Given the description of an element on the screen output the (x, y) to click on. 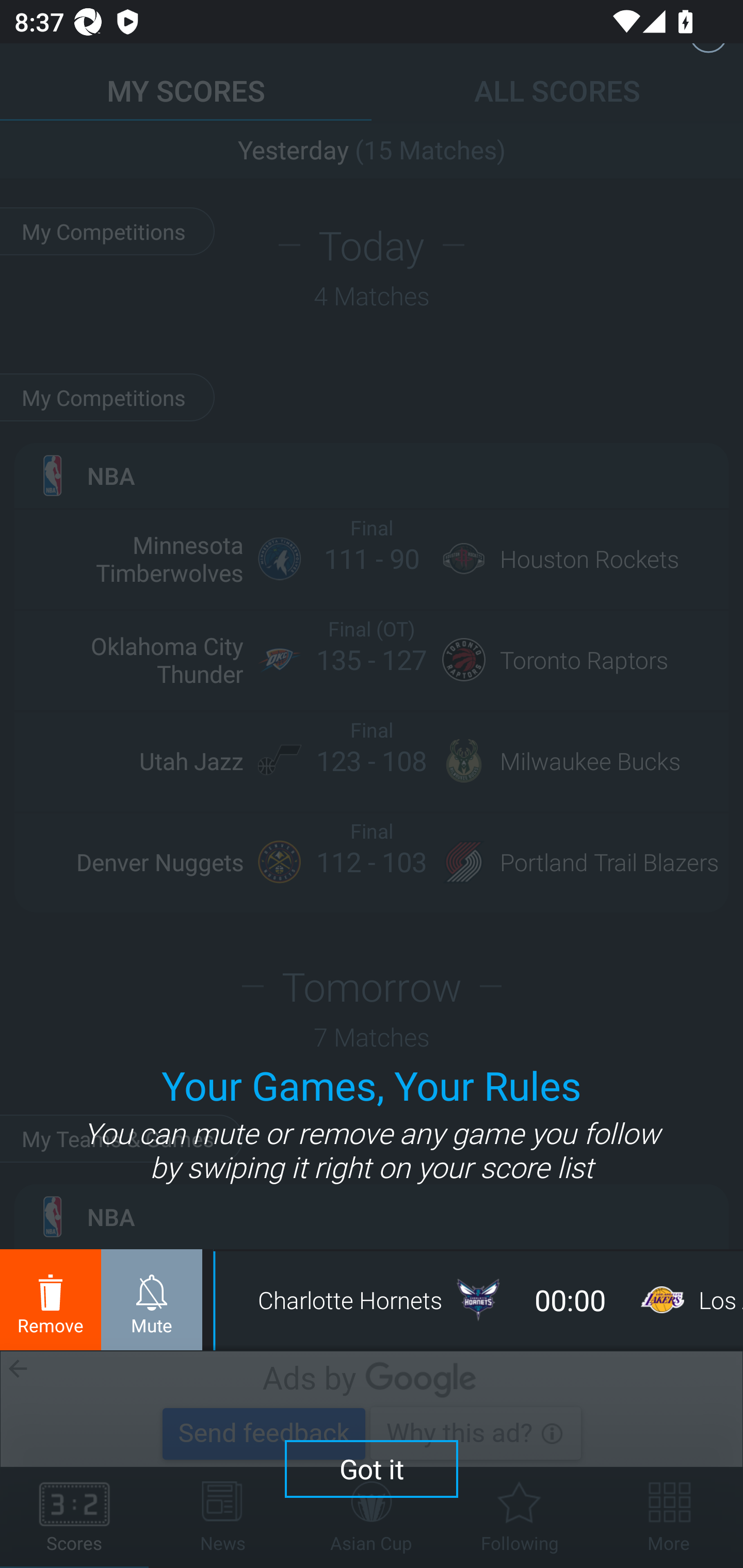
Charlotte Hornets 00:00 Los Angeles Lakers (479, 1299)
Got it (371, 1468)
